Given the description of an element on the screen output the (x, y) to click on. 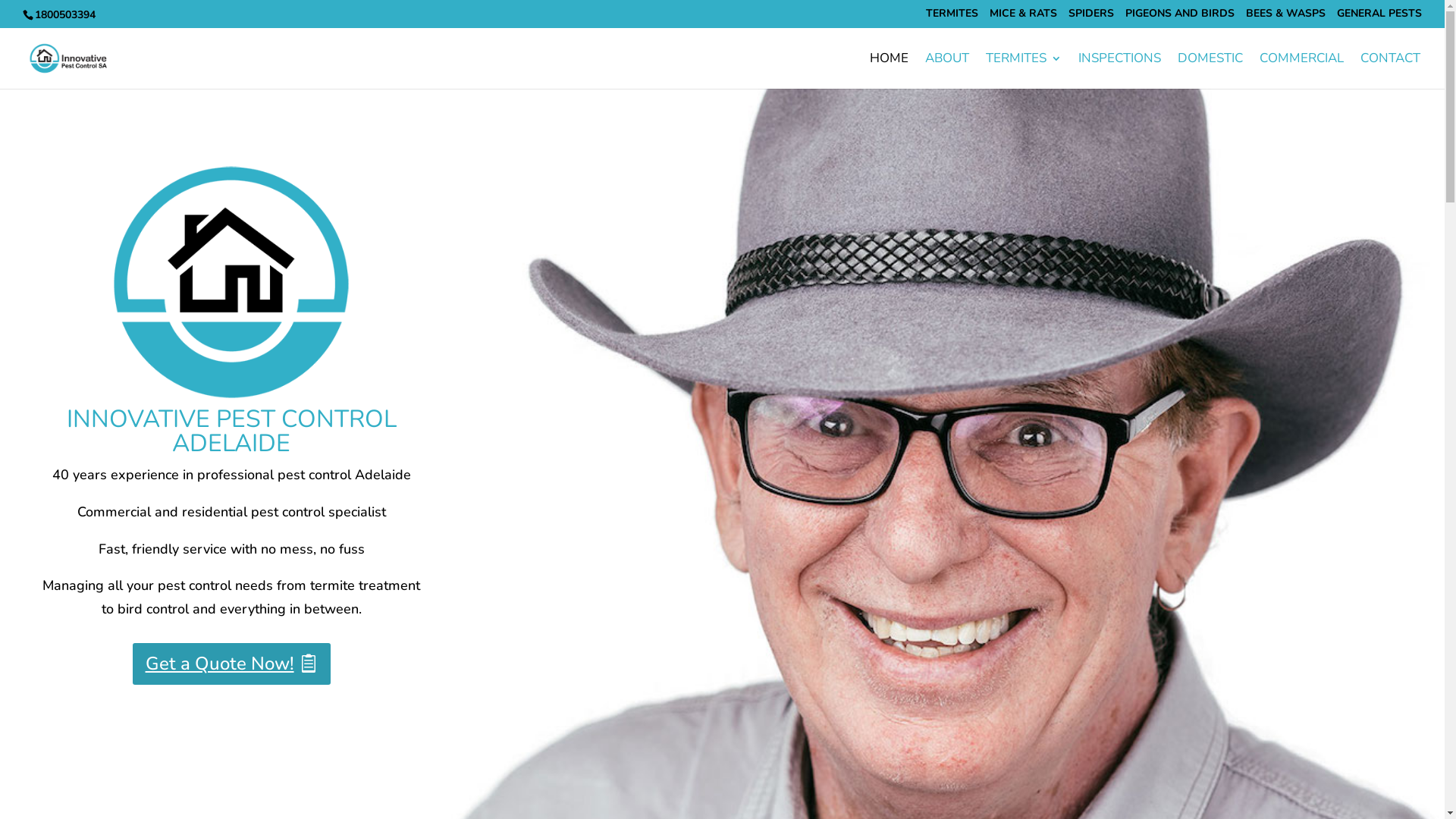
INSPECTIONS Element type: text (1119, 70)
Get a Quote Now! Element type: text (231, 663)
SPIDERS Element type: text (1090, 16)
GENERAL PESTS Element type: text (1378, 16)
TERMITES Element type: text (1023, 70)
CONTACT Element type: text (1390, 70)
BEES & WASPS Element type: text (1285, 16)
PIGEONS AND BIRDS Element type: text (1179, 16)
DOMESTIC Element type: text (1209, 70)
1800503394 Element type: text (63, 14)
TERMITES Element type: text (951, 16)
HOME Element type: text (888, 70)
MICE & RATS Element type: text (1023, 16)
COMMERCIAL Element type: text (1301, 70)
ABOUT Element type: text (947, 70)
